Given the description of an element on the screen output the (x, y) to click on. 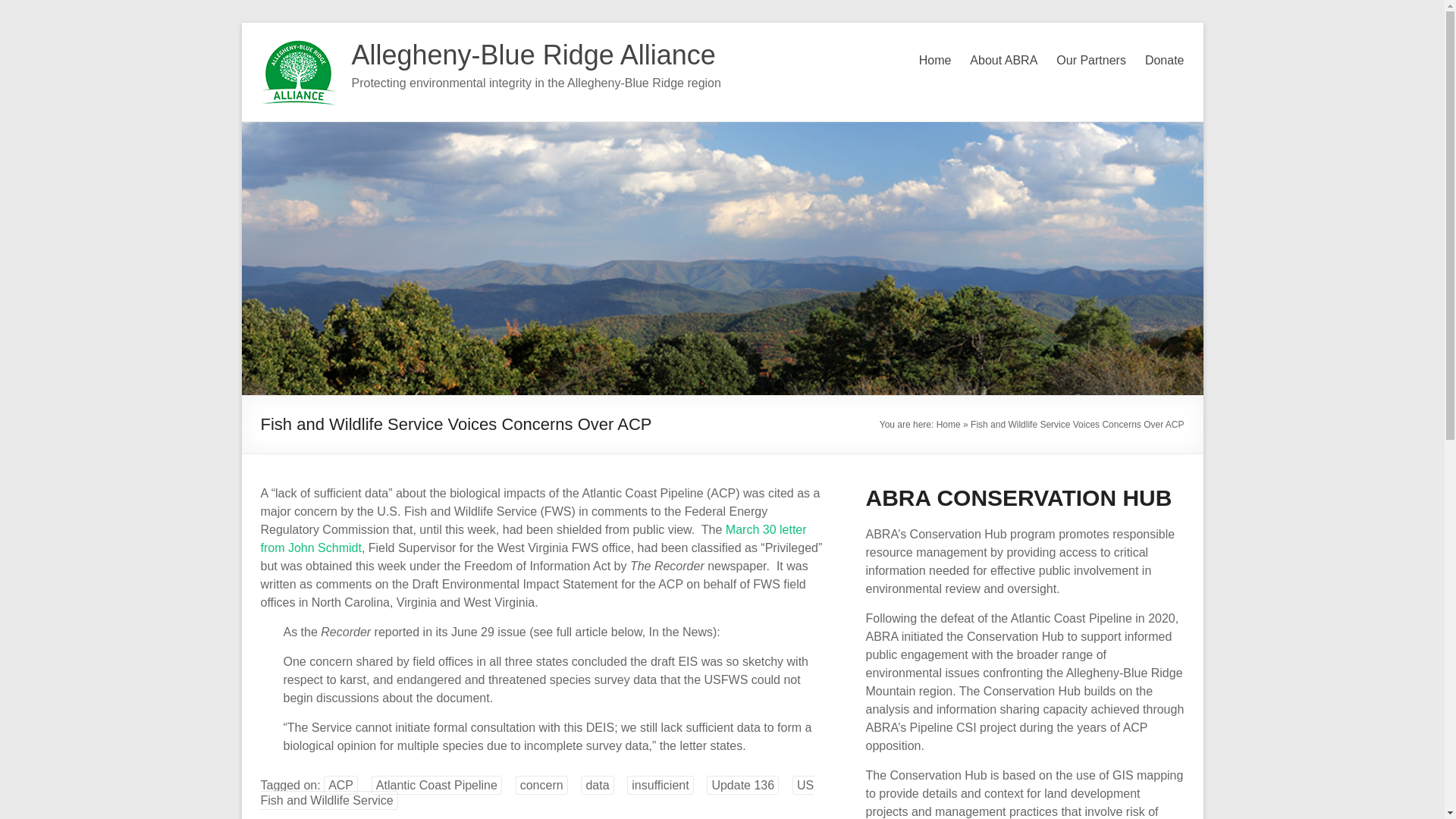
About ABRA (1002, 60)
Allegheny-Blue Ridge Alliance (534, 54)
insufficient (660, 784)
concern (541, 784)
US Fish and Wildlife Service (536, 792)
Our Partners (1091, 60)
Home (948, 424)
ACP (340, 784)
Update 136 (742, 784)
Donate (1164, 60)
